Given the description of an element on the screen output the (x, y) to click on. 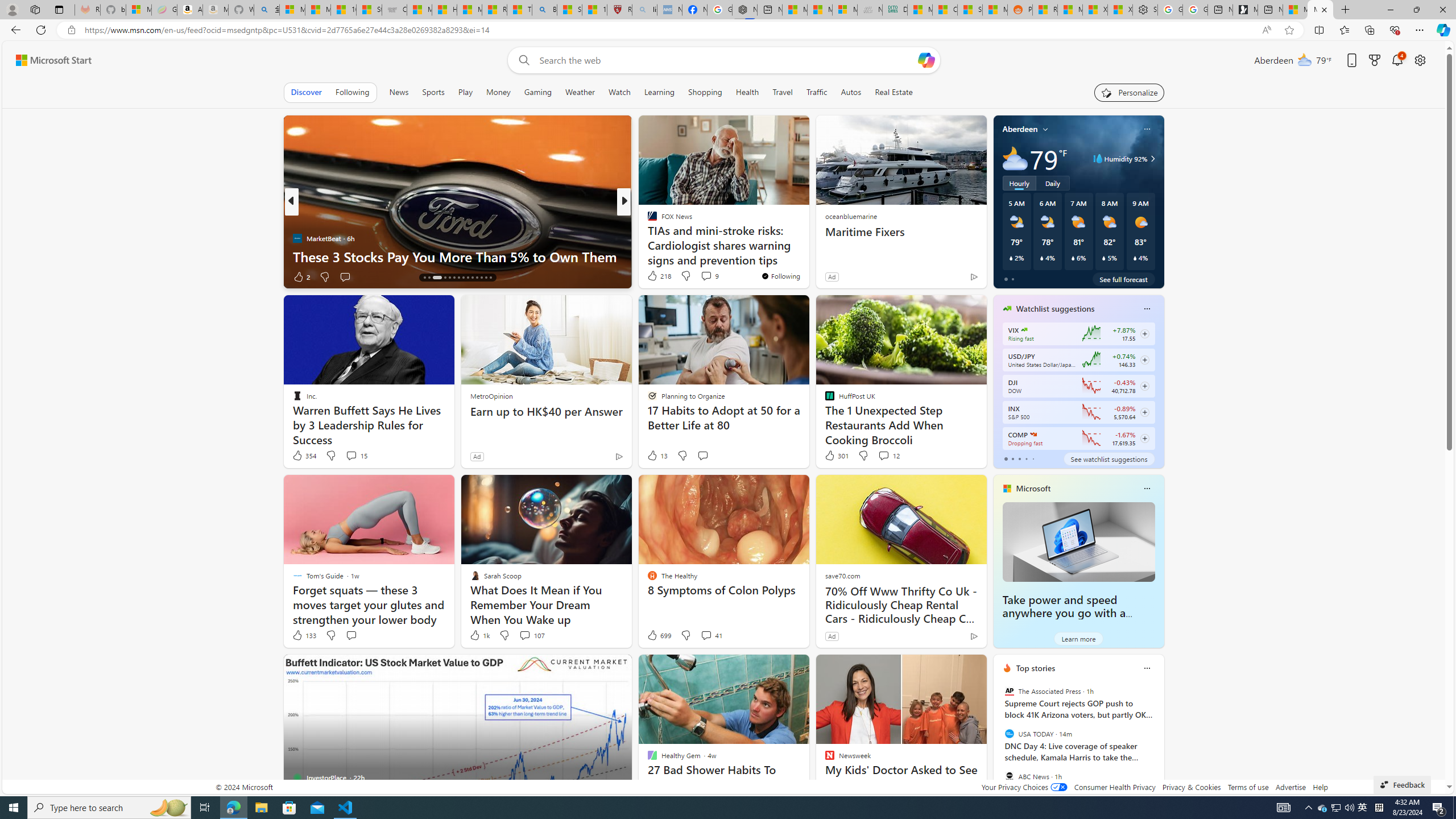
tab-0 (1005, 458)
Real Estate (893, 92)
Learning (659, 92)
Constative (647, 219)
400 Like (654, 276)
8 Like (651, 276)
Class: follow-button  m (1144, 438)
Mostly cloudy (1014, 158)
